Given the description of an element on the screen output the (x, y) to click on. 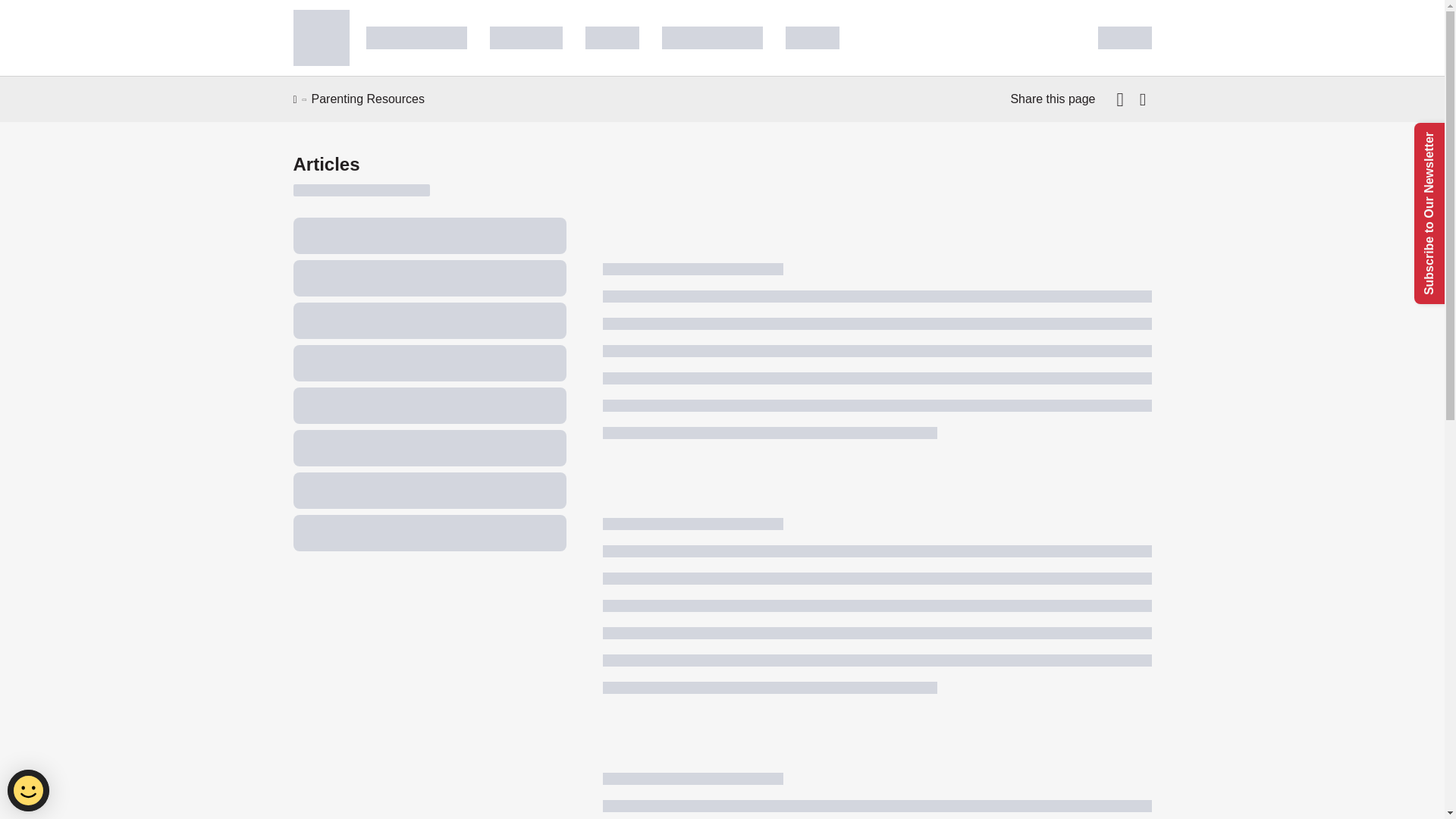
Share via Facebook (1121, 98)
Share via URL Link (1142, 99)
Parenting Resources (368, 99)
